Given the description of an element on the screen output the (x, y) to click on. 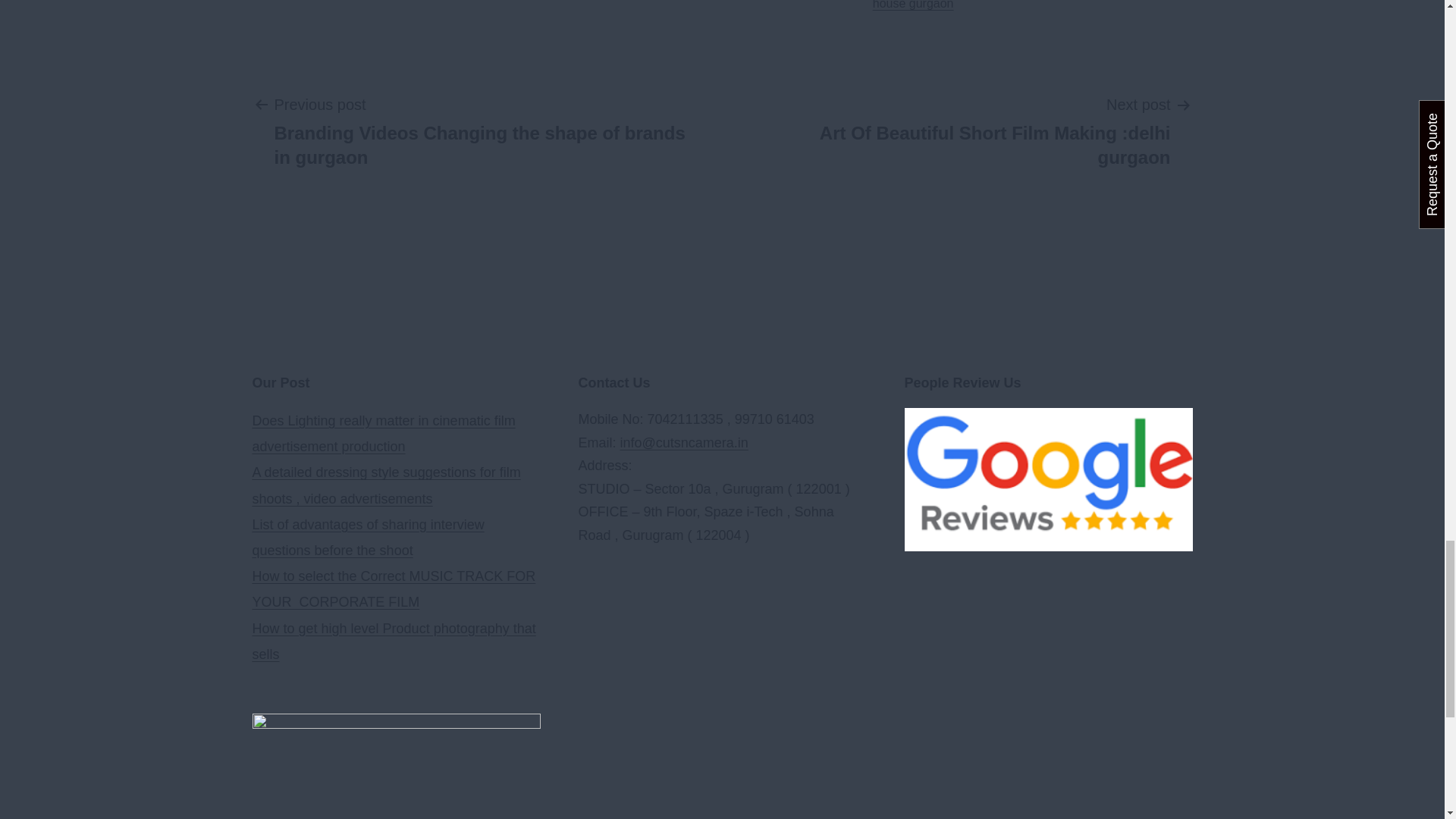
video production house gurgaon (908, 4)
How to get high level Product photography that sells (393, 640)
